Given the description of an element on the screen output the (x, y) to click on. 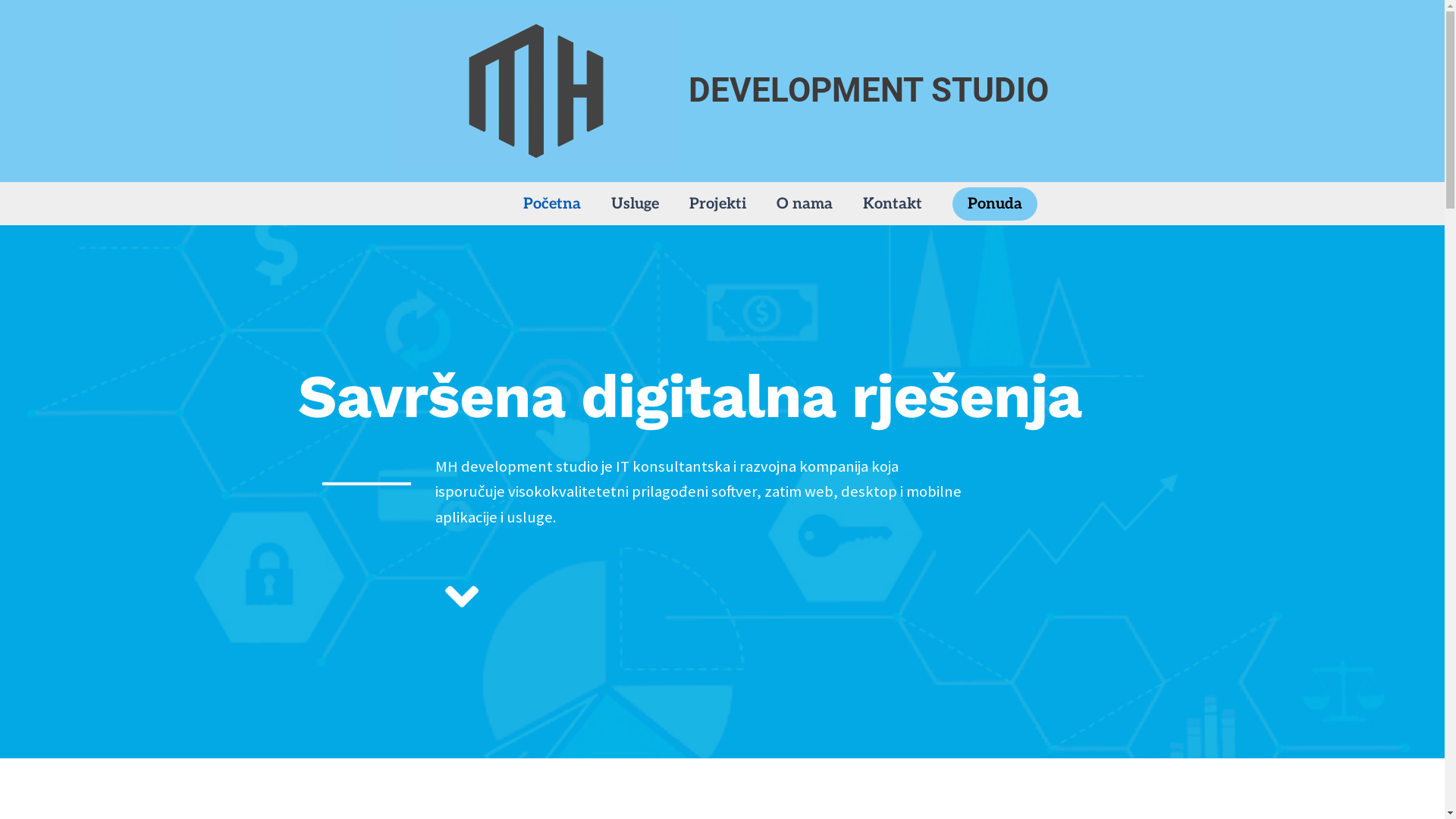
Projekti Element type: text (716, 203)
O nama Element type: text (804, 203)
Usluge Element type: text (635, 203)
DEVELOPMENT STUDIO Element type: text (868, 89)
Ponuda Element type: text (994, 203)
Kontakt Element type: text (892, 203)
